Given the description of an element on the screen output the (x, y) to click on. 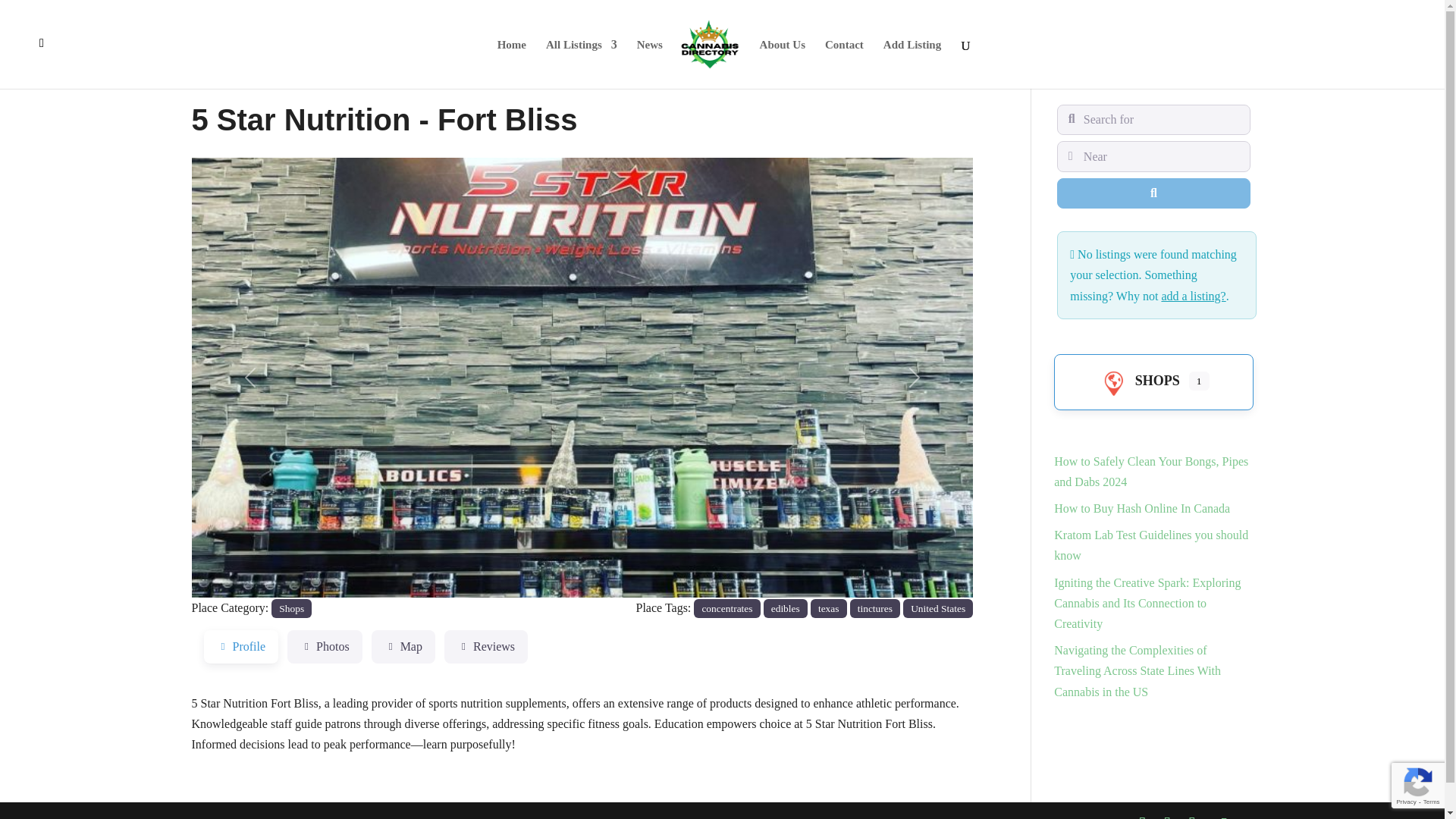
tinctures (874, 608)
Map (403, 646)
All Listings (581, 63)
Photos (324, 646)
United States (937, 608)
edibles (785, 608)
concentrates (727, 608)
Add Listing (911, 63)
Reviews (485, 646)
About Us (782, 63)
